Given the description of an element on the screen output the (x, y) to click on. 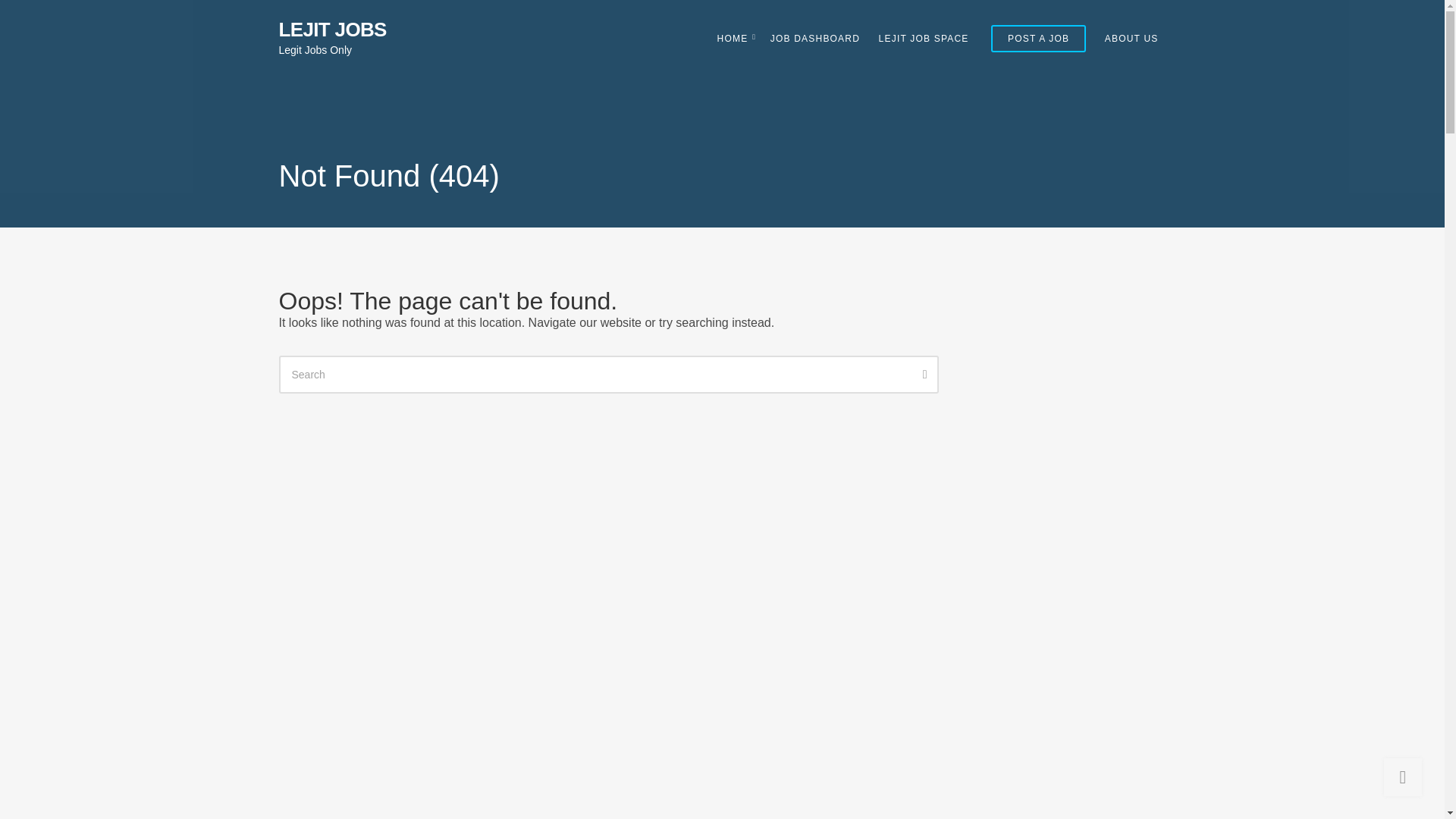
JOB DASHBOARD (815, 38)
HOME (734, 38)
POST A JOB (1038, 38)
ABOUT US (1131, 38)
LEJIT JOBS (333, 29)
LEJIT JOB SPACE (924, 38)
